Given the description of an element on the screen output the (x, y) to click on. 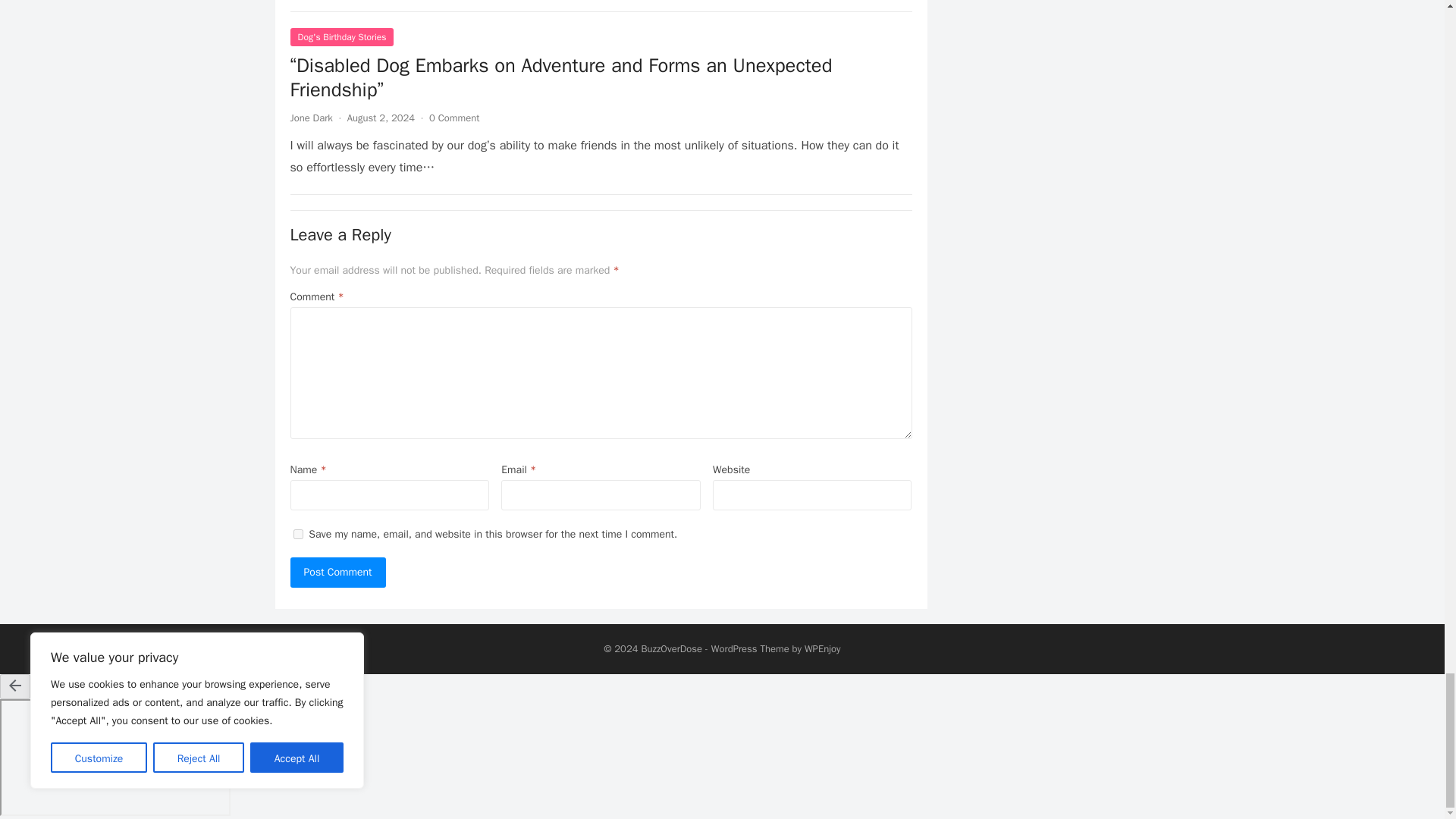
Post Comment (337, 572)
Posts by Jone Dark (310, 117)
yes (297, 533)
